Given the description of an element on the screen output the (x, y) to click on. 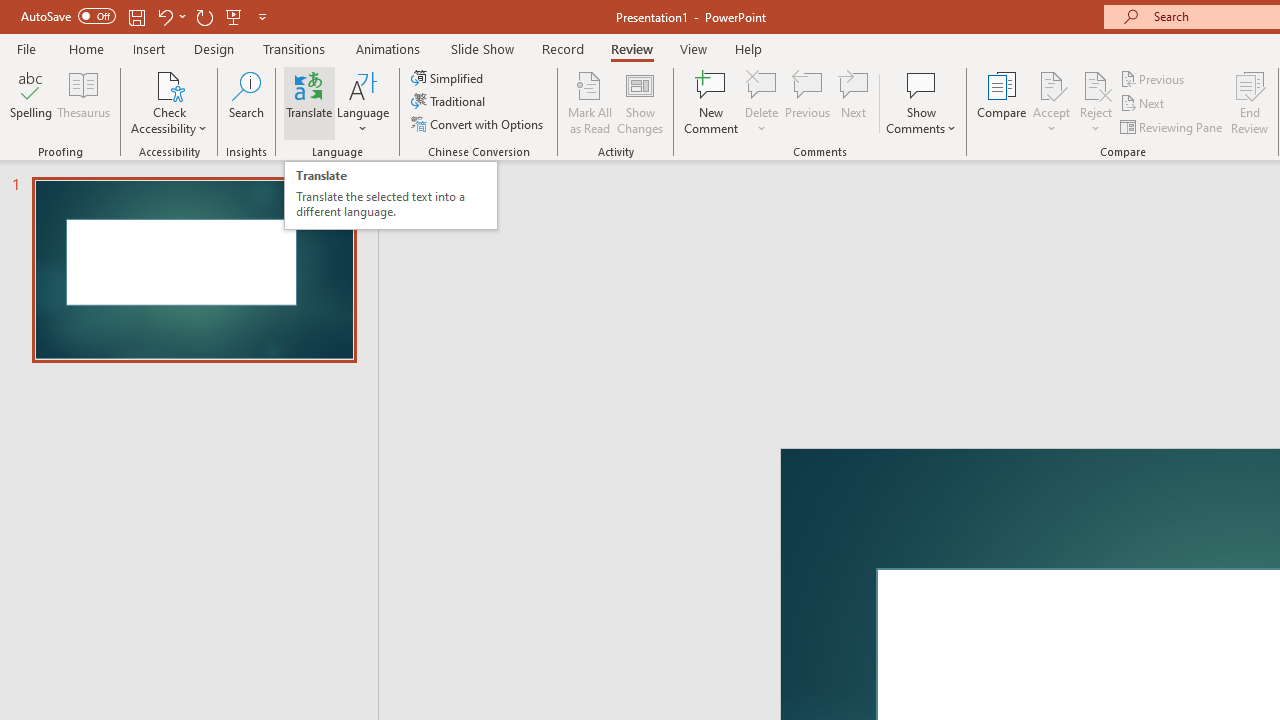
Mark All as Read (589, 102)
Show Changes (639, 102)
Spelling... (31, 102)
Reject Change (1096, 84)
Reviewing Pane (1172, 126)
Accept (1051, 102)
Accept Change (1051, 84)
Compare (1002, 102)
